Given the description of an element on the screen output the (x, y) to click on. 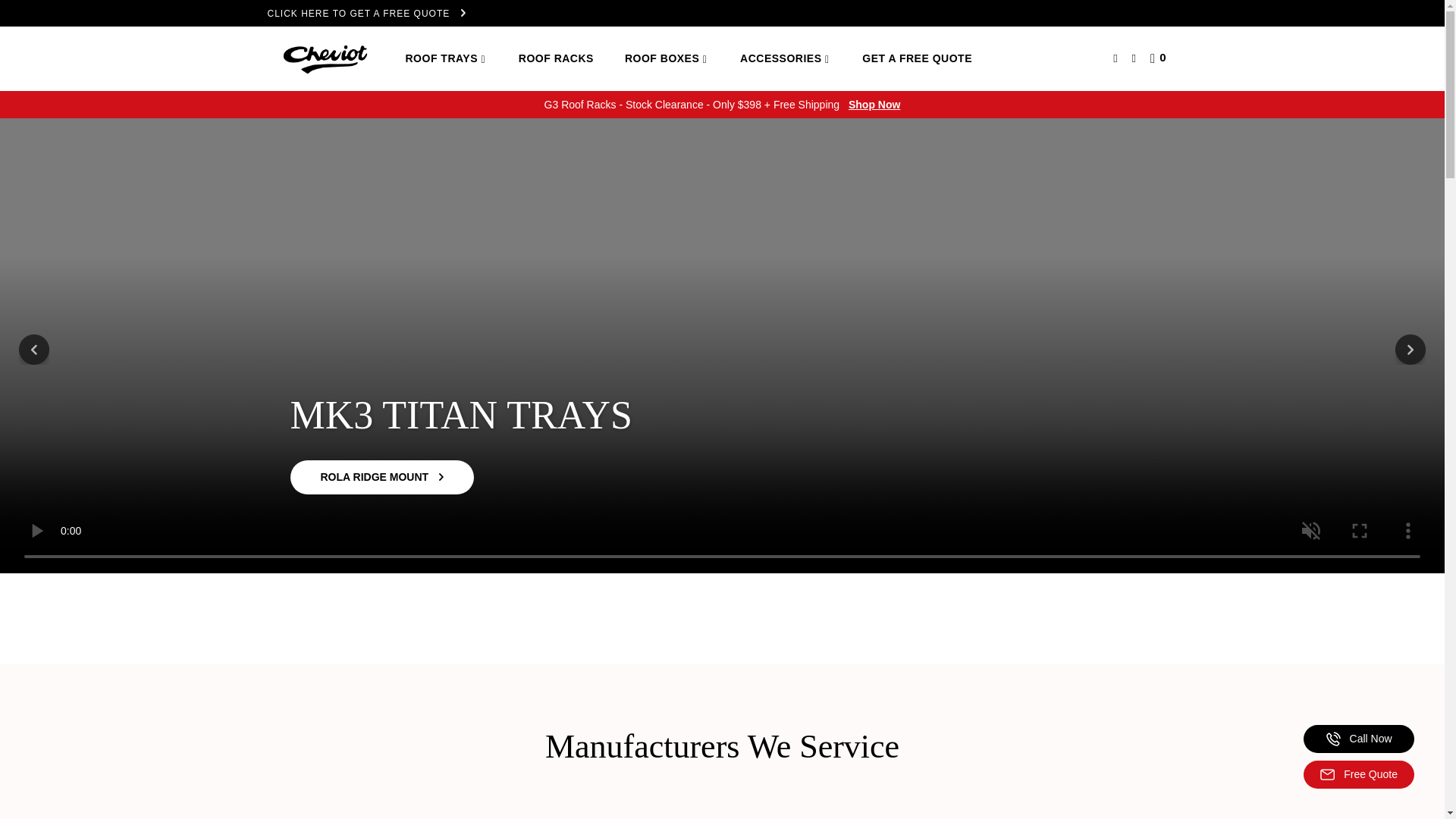
ROOF TRAYS (445, 58)
Cheviot Roof Racks (323, 58)
CLICK HERE TO GET A FREE QUOTE (721, 13)
